Given the description of an element on the screen output the (x, y) to click on. 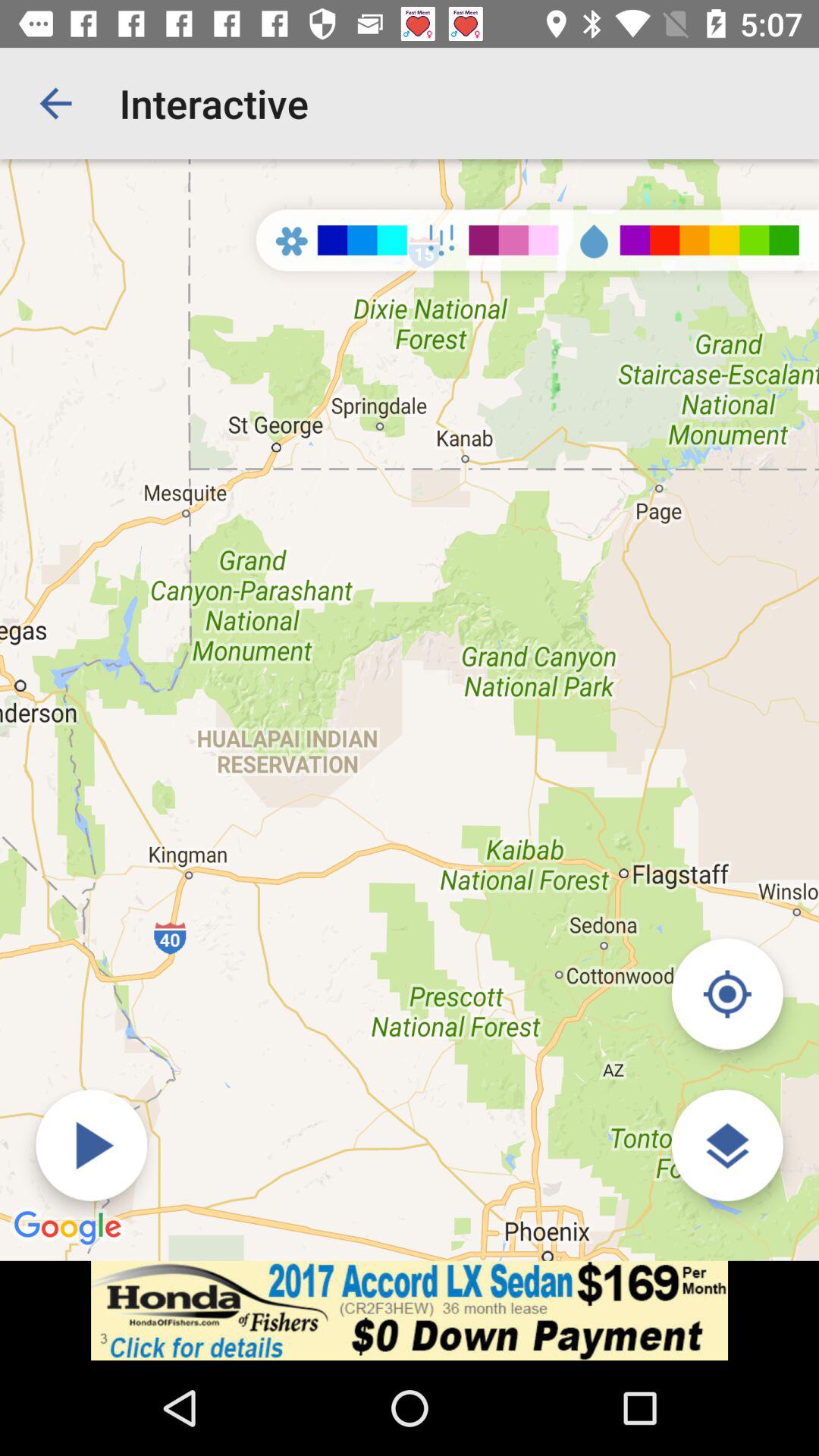
open advertisement (409, 1310)
